Given the description of an element on the screen output the (x, y) to click on. 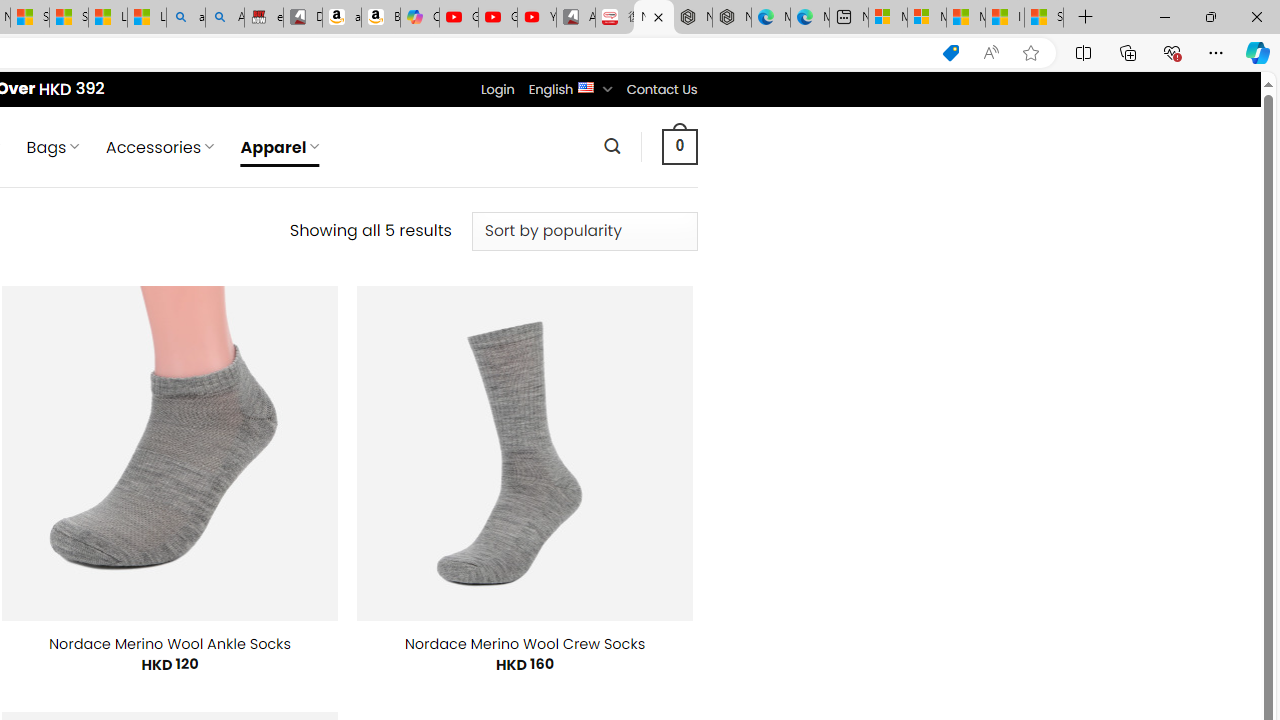
Copilot (419, 17)
English (586, 86)
